Given the description of an element on the screen output the (x, y) to click on. 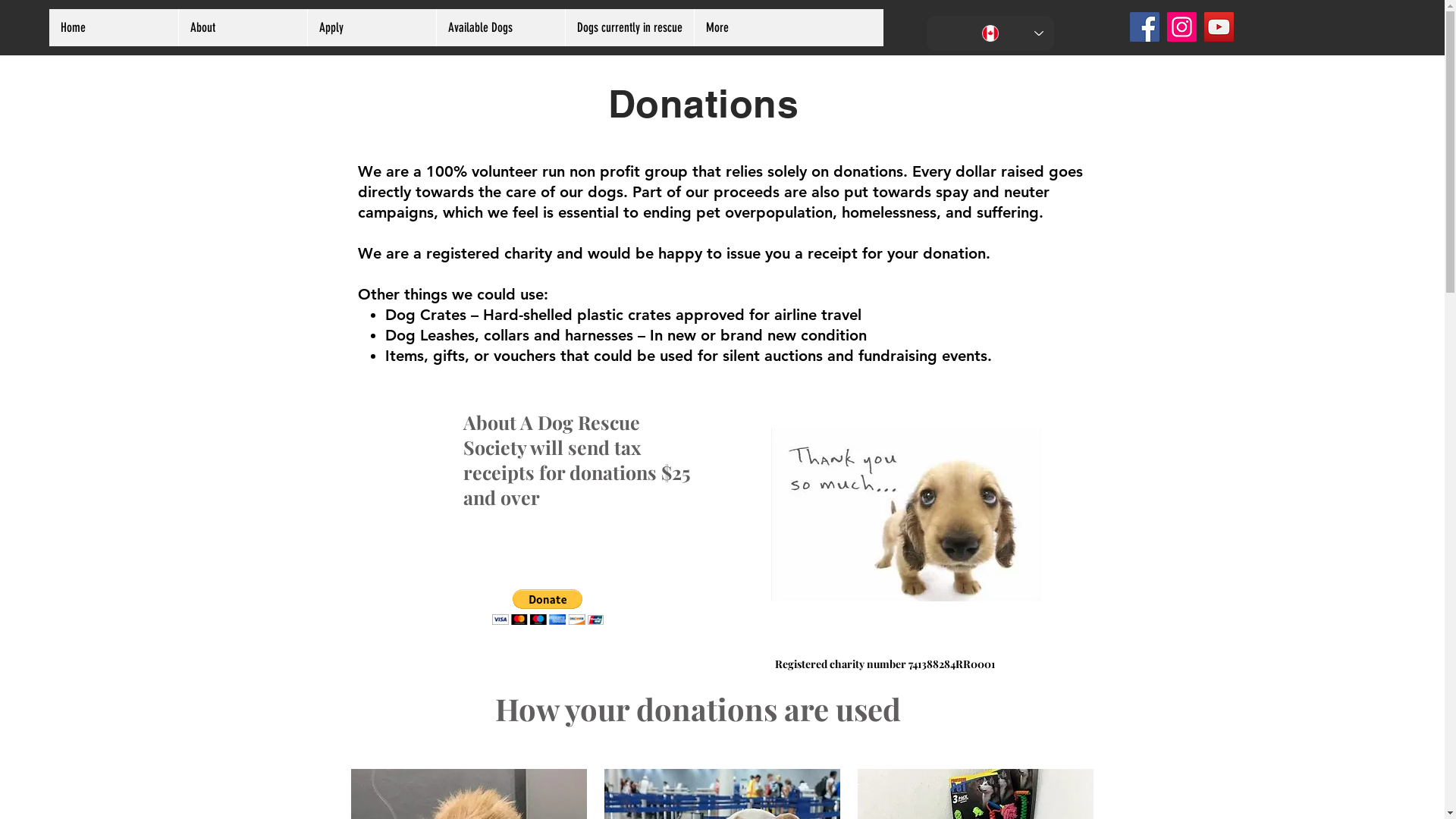
About Element type: text (242, 27)
Home Element type: text (113, 27)
Apply Element type: text (371, 27)
Dogs currently in rescue Element type: text (628, 27)
Available Dogs Element type: text (500, 27)
